Given the description of an element on the screen output the (x, y) to click on. 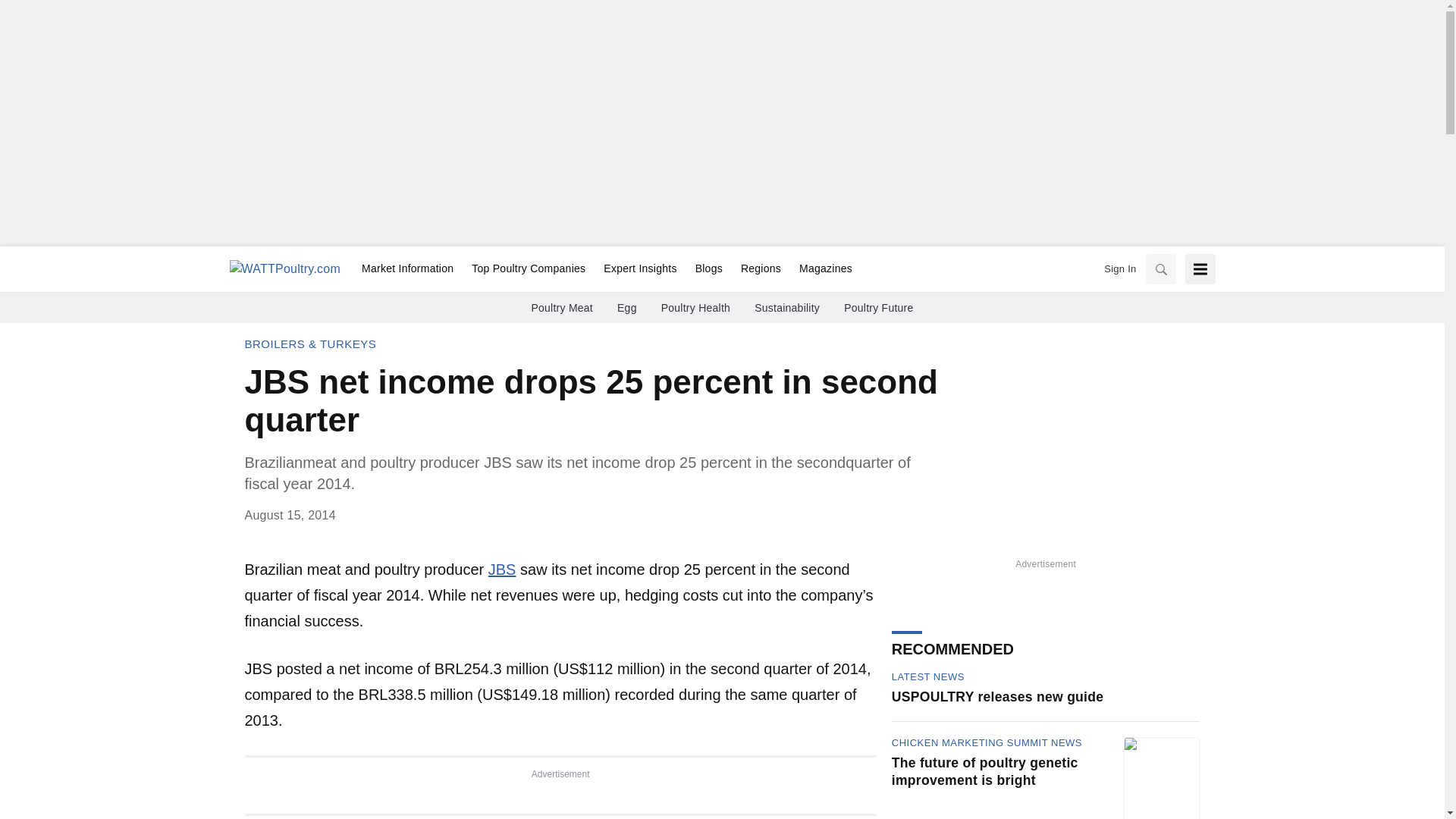
Poultry Health (695, 307)
Poultry Future (878, 307)
Poultry Meat (561, 307)
Market Information (407, 269)
Regions (761, 269)
Sign In (1119, 268)
Latest News (927, 676)
Magazines (820, 269)
Expert Insights (639, 269)
Sustainability (786, 307)
